Given the description of an element on the screen output the (x, y) to click on. 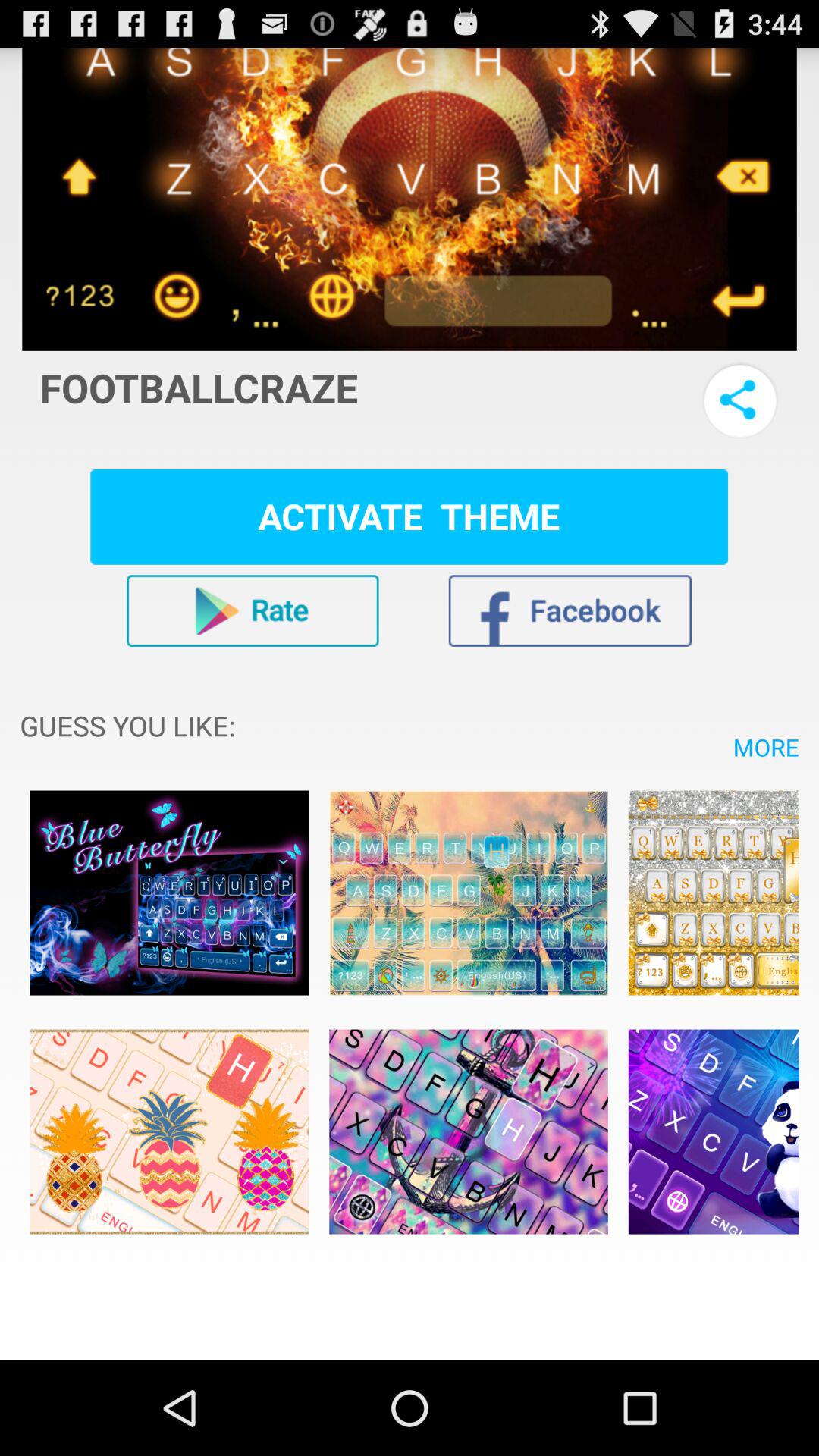
go to the app 's facebook page (569, 610)
